Given the description of an element on the screen output the (x, y) to click on. 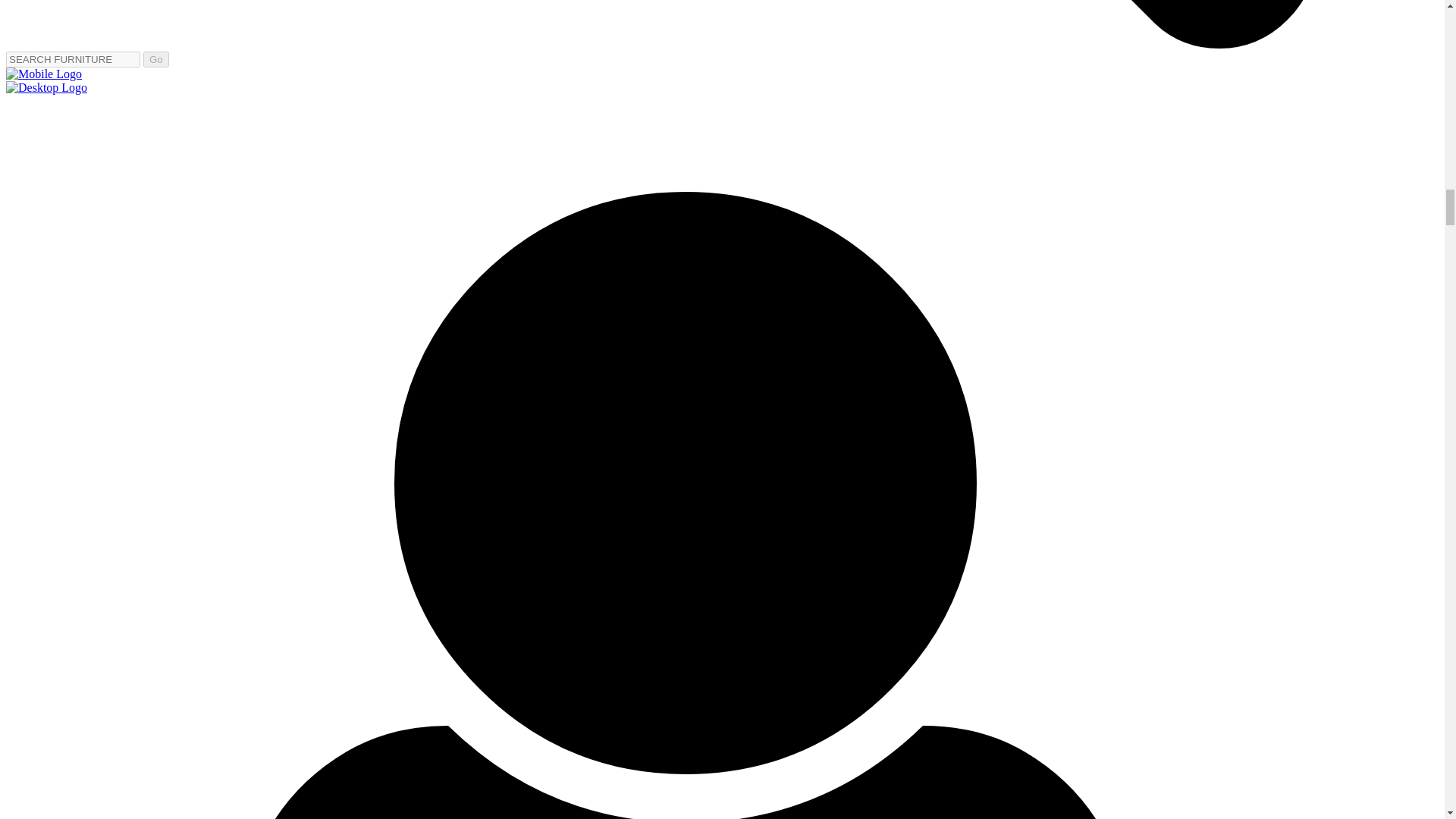
Go (155, 59)
Go (155, 59)
